Given the description of an element on the screen output the (x, y) to click on. 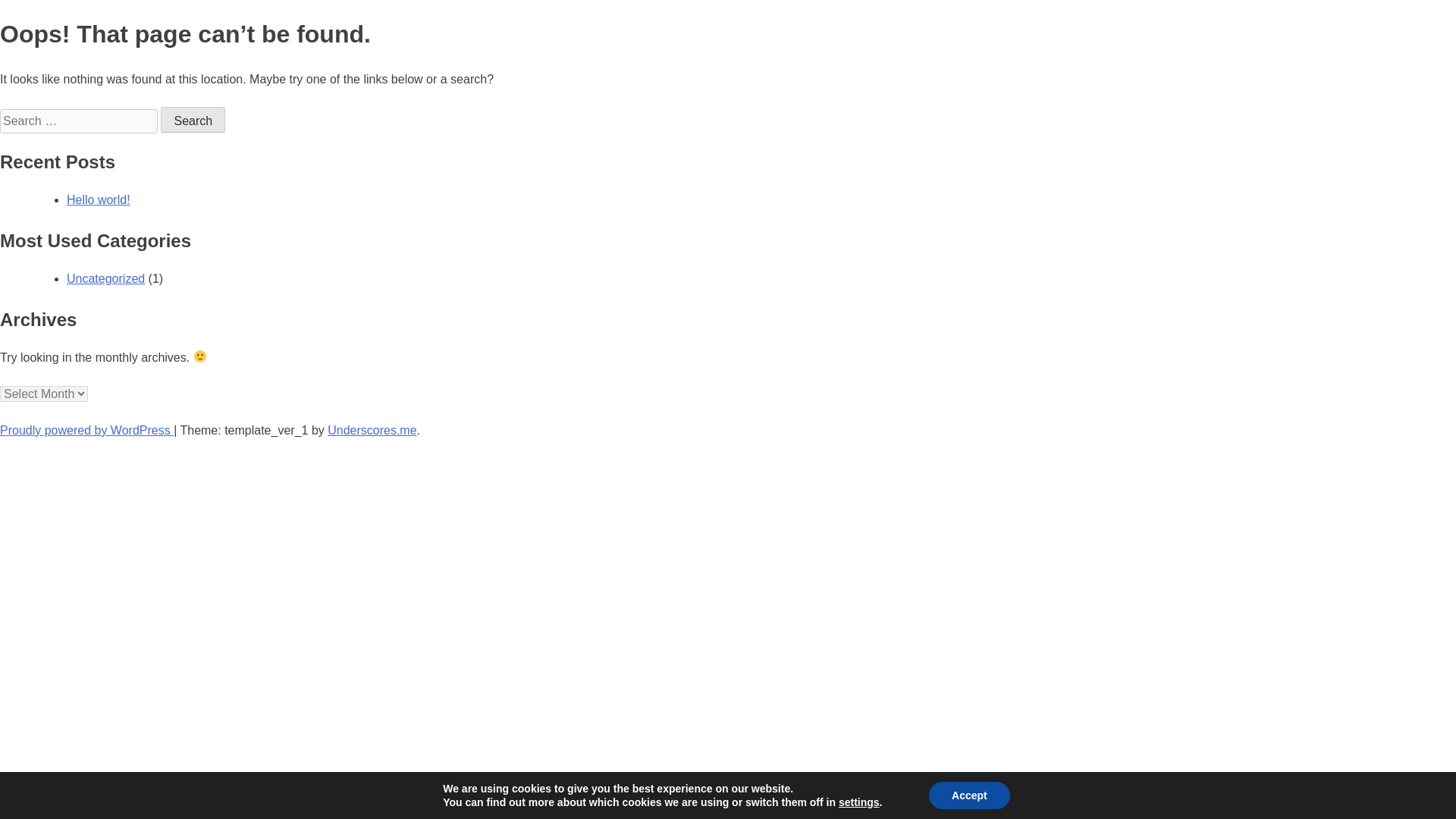
Uncategorized (105, 278)
Search (192, 119)
Search (192, 119)
Search (192, 119)
Hello world! (98, 199)
